Given the description of an element on the screen output the (x, y) to click on. 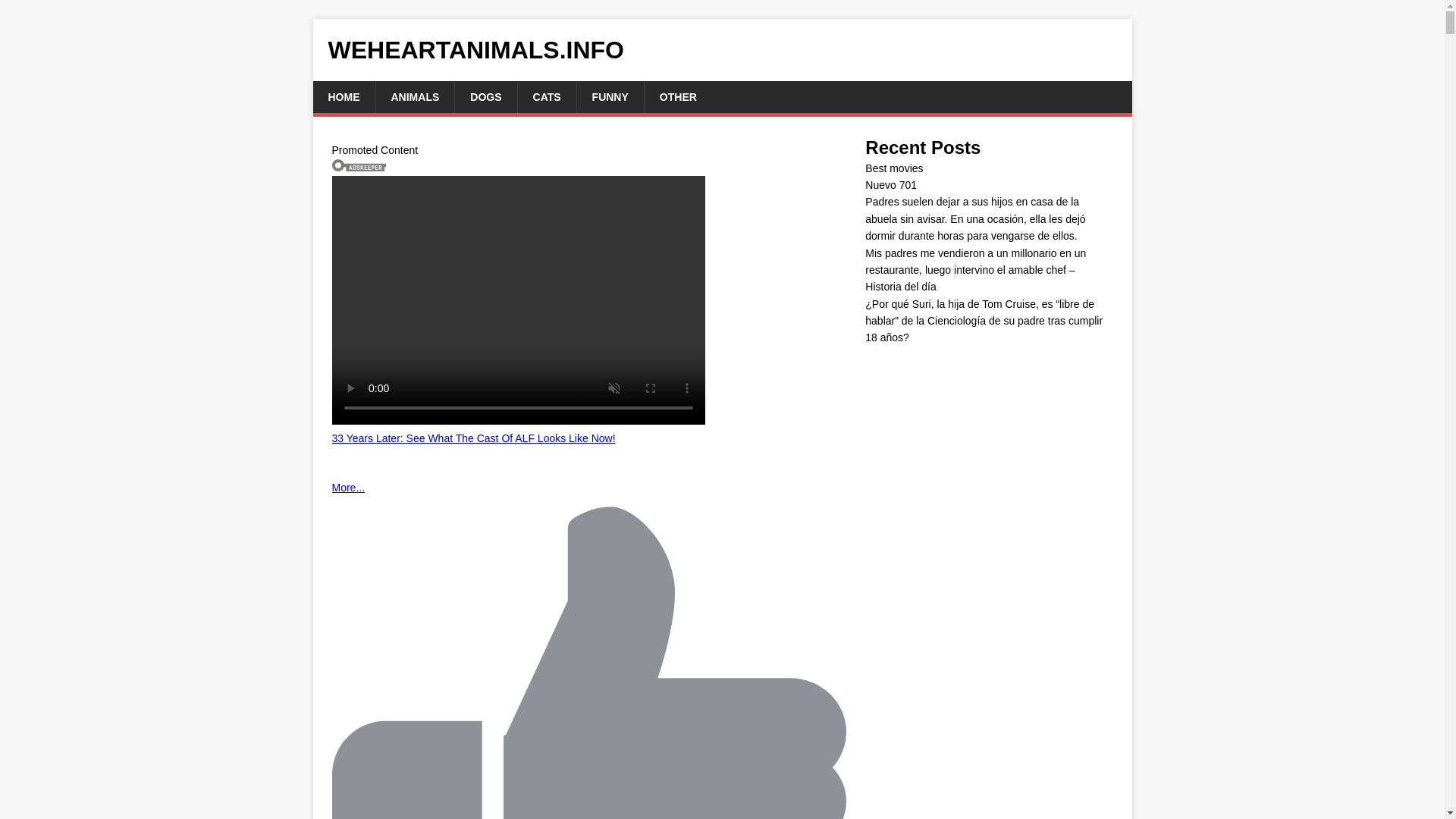
CATS (546, 97)
FUNNY (609, 97)
Nuevo 701 (890, 184)
HOME (343, 97)
OTHER (677, 97)
WEHEARTANIMALS.INFO (721, 49)
Best movies (893, 168)
ANIMALS (414, 97)
weheartanimals.info (721, 49)
DOGS (485, 97)
